Given the description of an element on the screen output the (x, y) to click on. 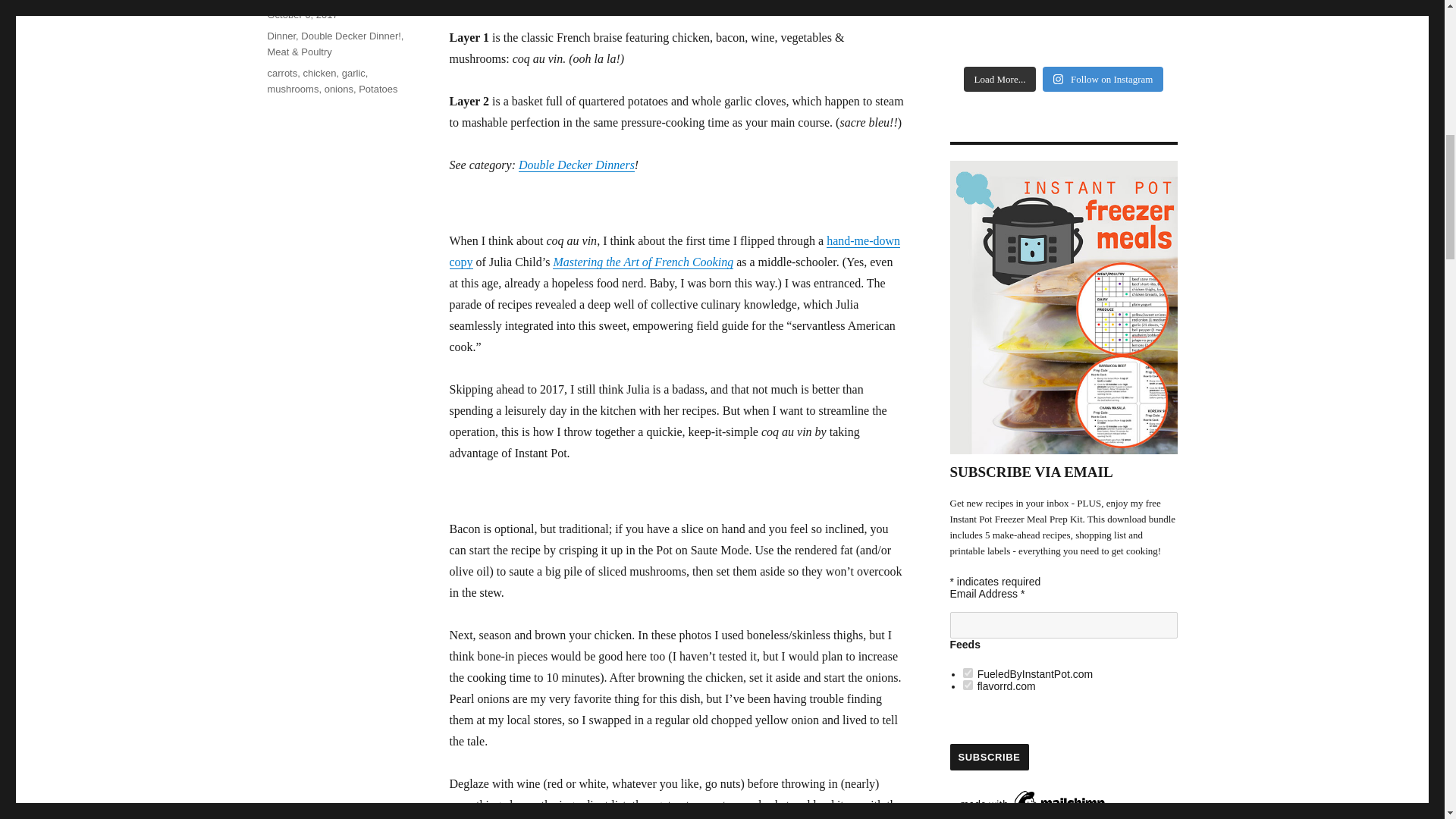
onions (338, 89)
garlic (353, 72)
mushrooms (292, 89)
Double Decker Dinner! (351, 35)
2 (967, 685)
hand-me-down copy (673, 251)
Mastering the Art of French Cooking (643, 261)
1 (967, 673)
carrots (281, 72)
Double Decker Dinners (576, 164)
